Given the description of an element on the screen output the (x, y) to click on. 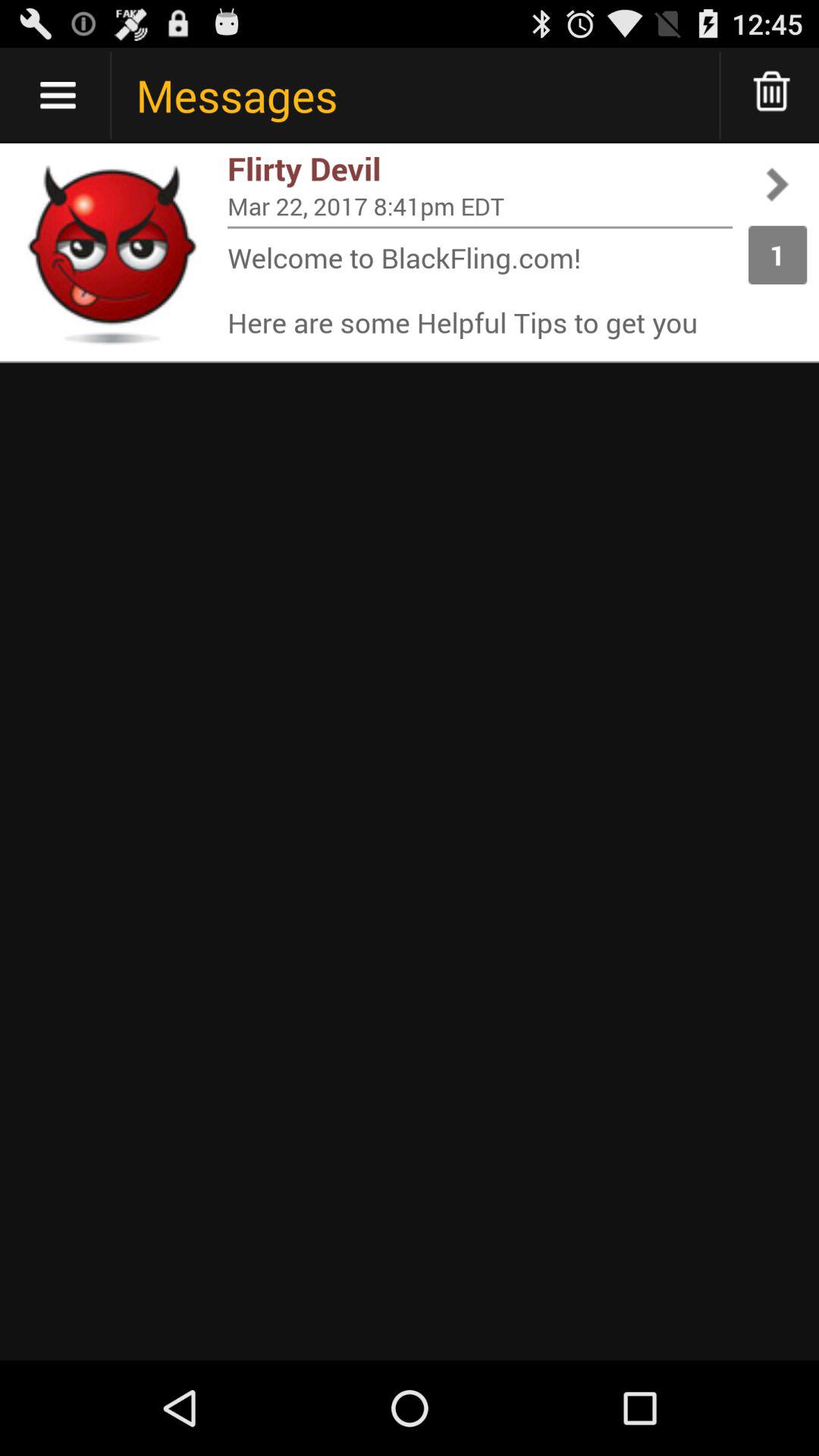
choose mar 22 2017 app (479, 205)
